Given the description of an element on the screen output the (x, y) to click on. 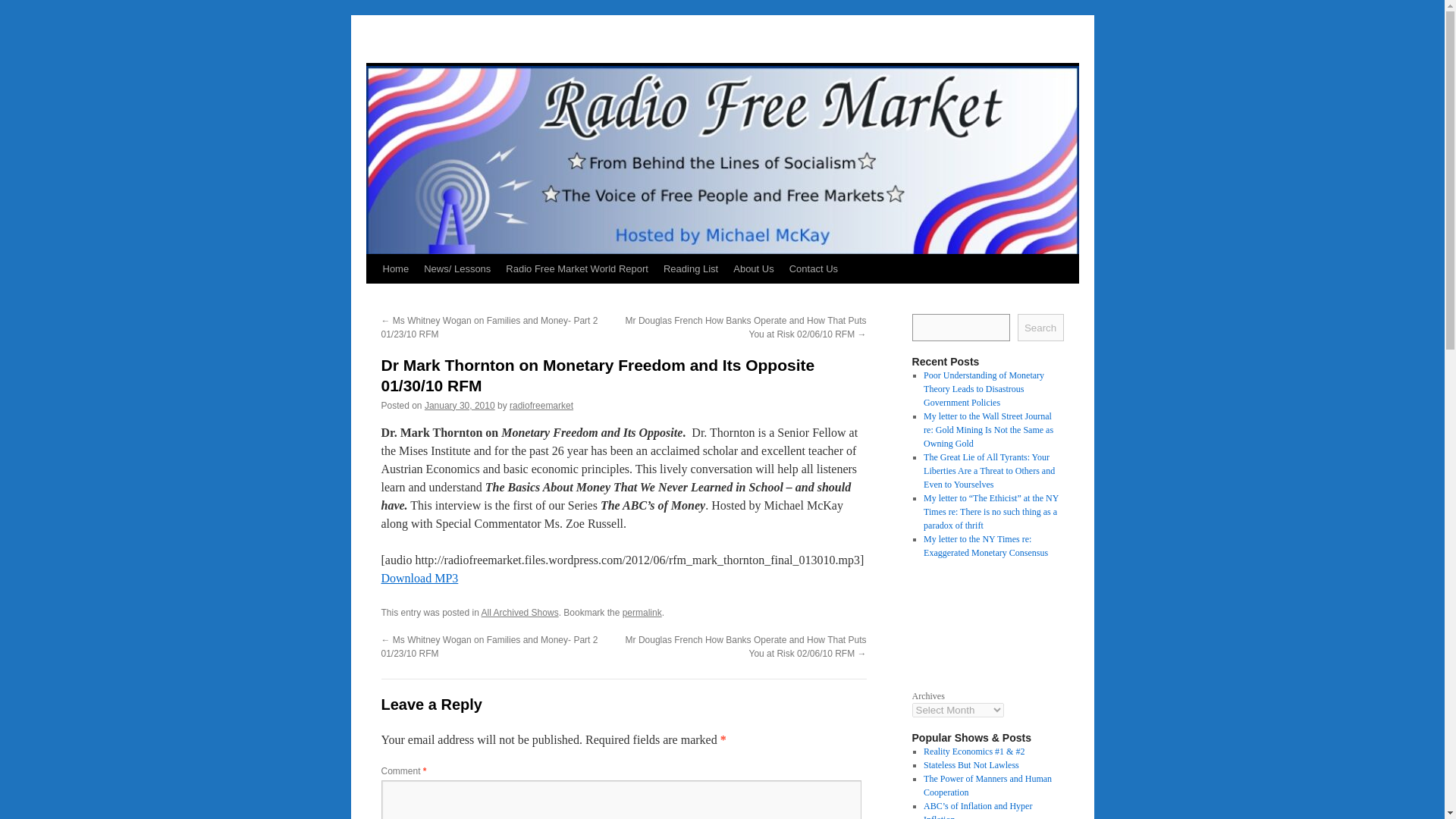
The Power of Manners and Human Cooperation (987, 785)
View all posts by radiofreemarket (541, 405)
Contact Us (813, 268)
About Us (752, 268)
Reading List (690, 268)
My letter to the NY Times re: Exaggerated Monetary Consensus (985, 545)
Download MP3 (419, 577)
Home (395, 268)
January 30, 2010 (460, 405)
fb:page Facebook Social Plugin (986, 622)
radiofreemarket (541, 405)
10:06 am (460, 405)
Radio Free Market World Report (576, 268)
